Given the description of an element on the screen output the (x, y) to click on. 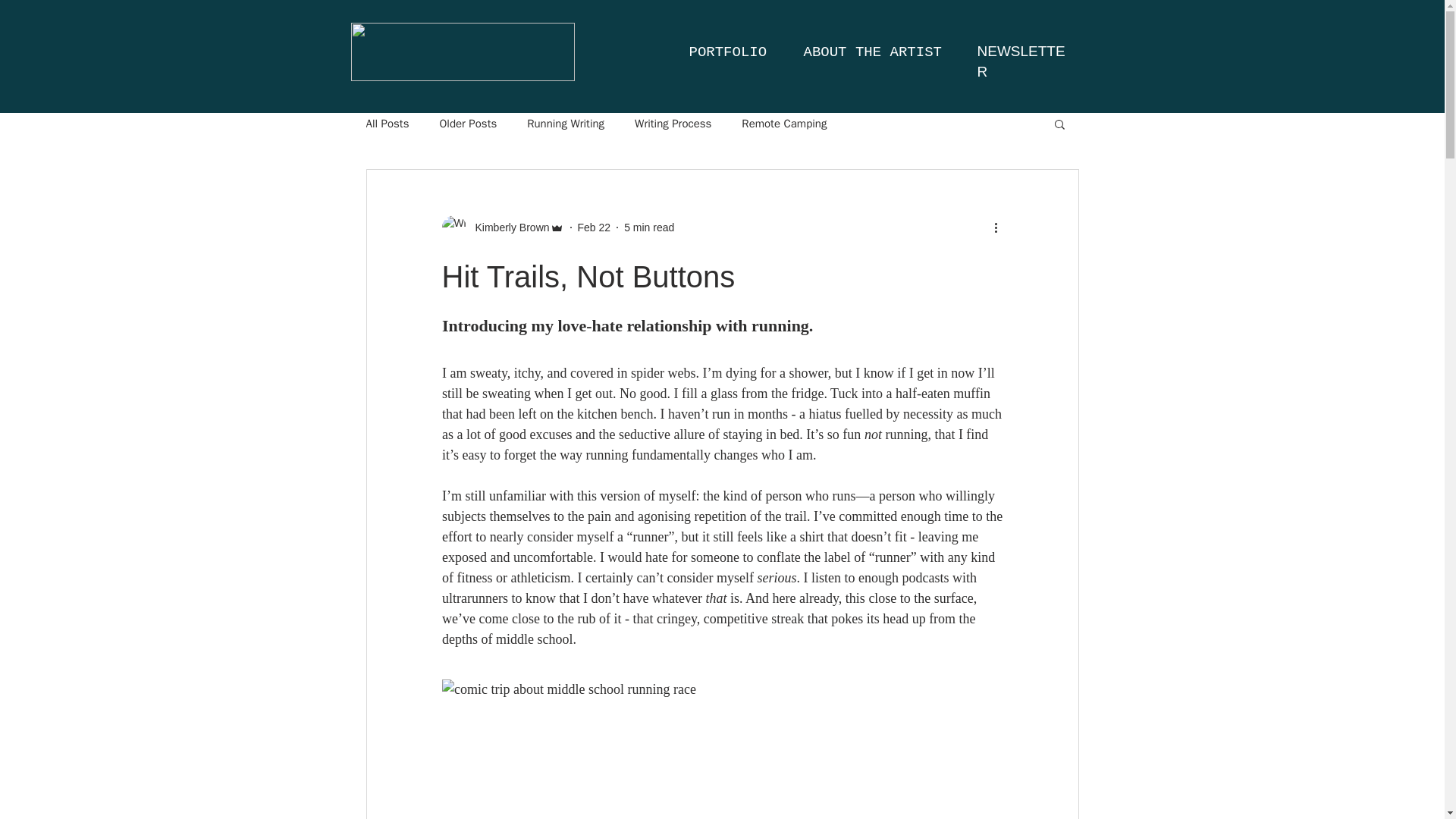
Remote Camping (784, 124)
Feb 22 (594, 227)
Kimberly Brown (502, 227)
5 min read (649, 227)
Writing Process (672, 124)
Kimberly Brown (506, 227)
Older Posts (467, 124)
Running Writing (565, 124)
All Posts (387, 124)
